Given the description of an element on the screen output the (x, y) to click on. 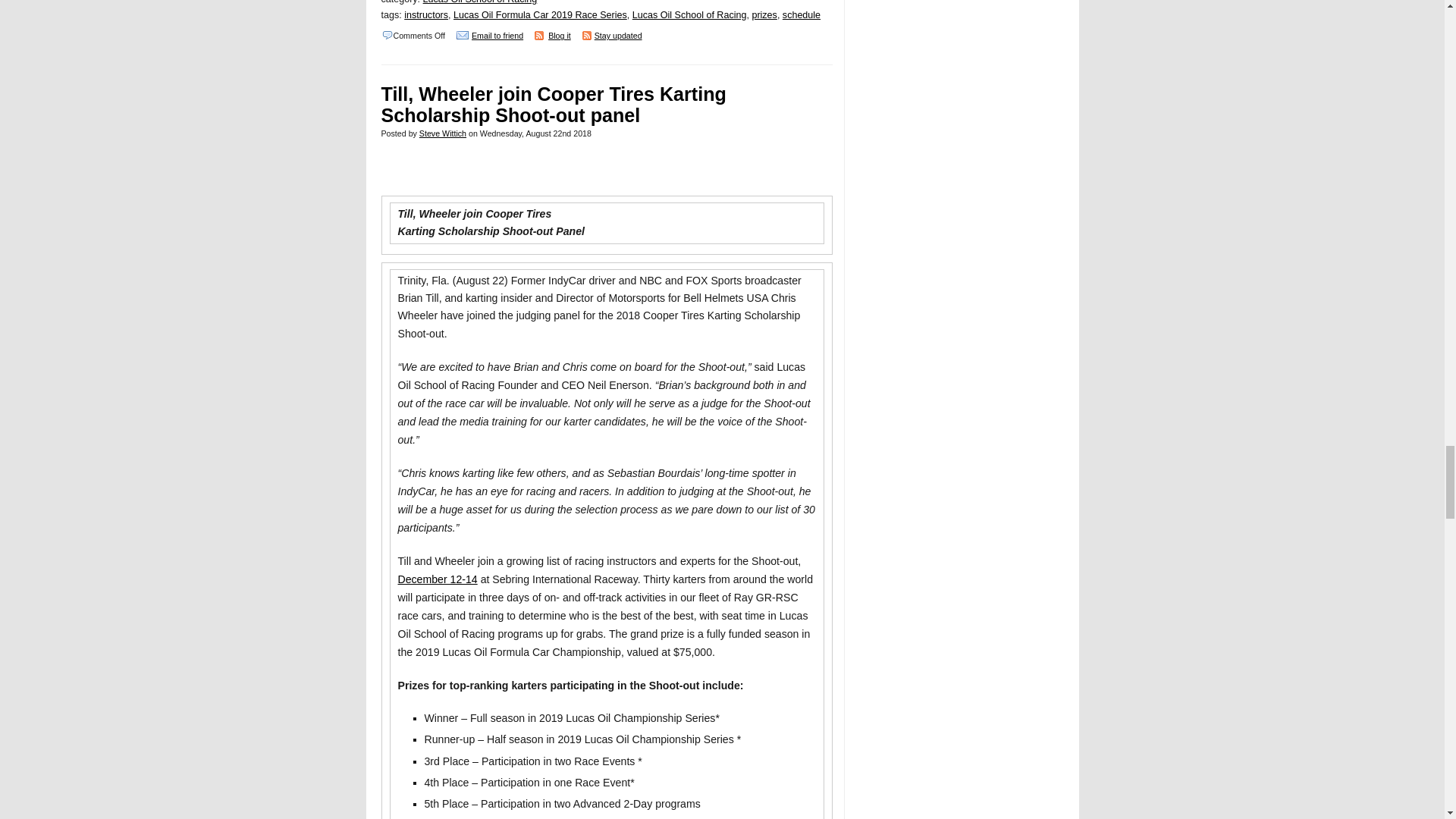
Posts by Steve Wittich (442, 133)
prizes (763, 14)
Lucas Oil Formula Car 2019 Race Series (539, 14)
Lucas Oil School of Racing (688, 14)
Lucas Oil School of Racing (480, 2)
instructors (426, 14)
